Given the description of an element on the screen output the (x, y) to click on. 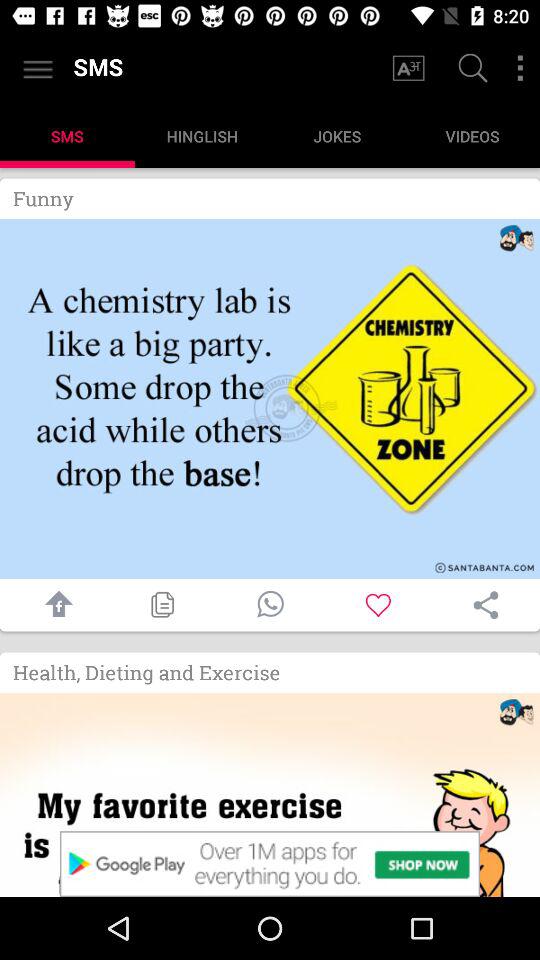
copy displayed content (162, 604)
